Given the description of an element on the screen output the (x, y) to click on. 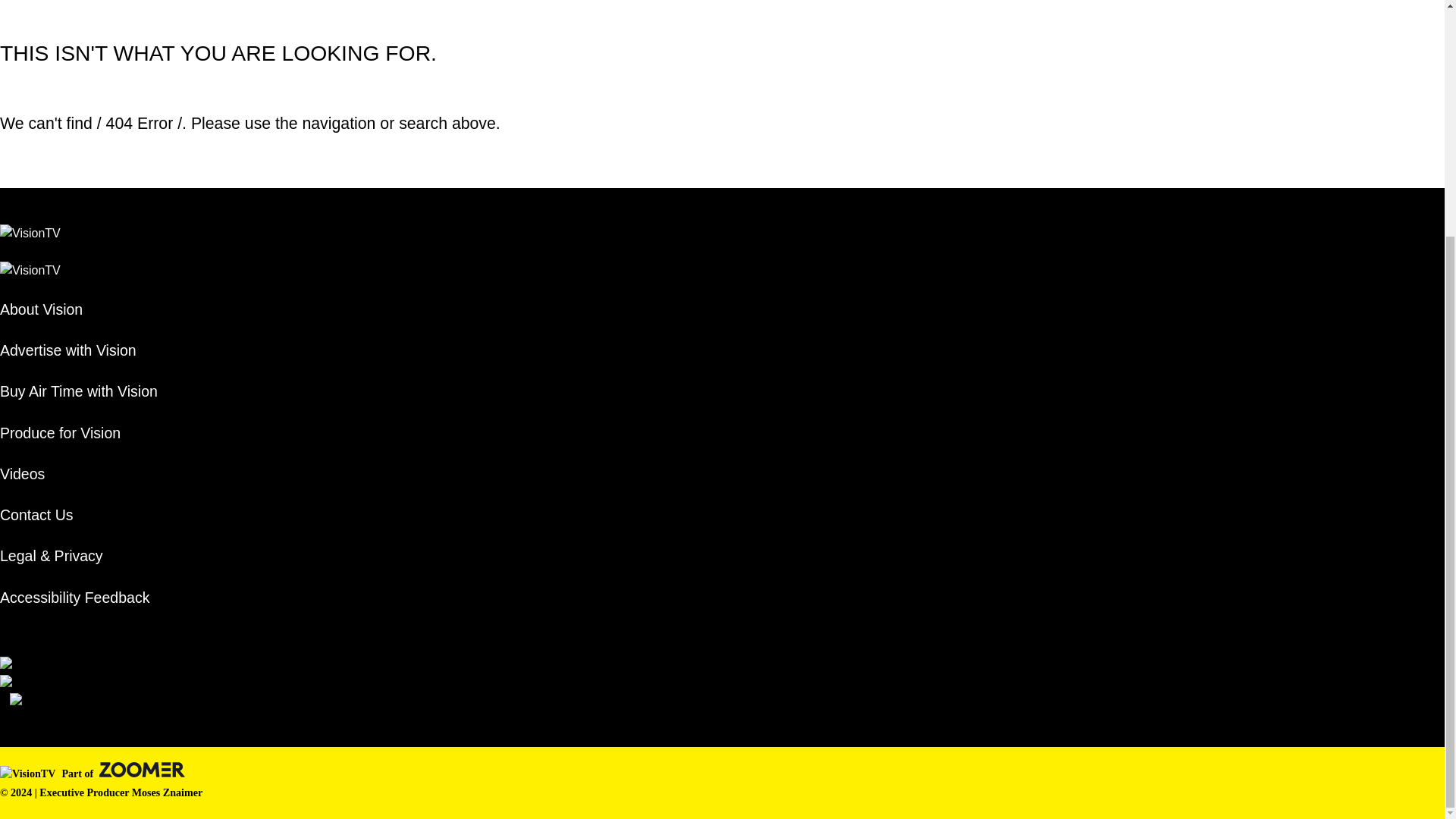
Advertise with Vision (78, 350)
About Vision (78, 309)
Buy Air Time with Vision (78, 391)
Accessibility Feedback (78, 598)
Contact Us (78, 515)
Videos (78, 474)
Produce for Vision (78, 433)
